Given the description of an element on the screen output the (x, y) to click on. 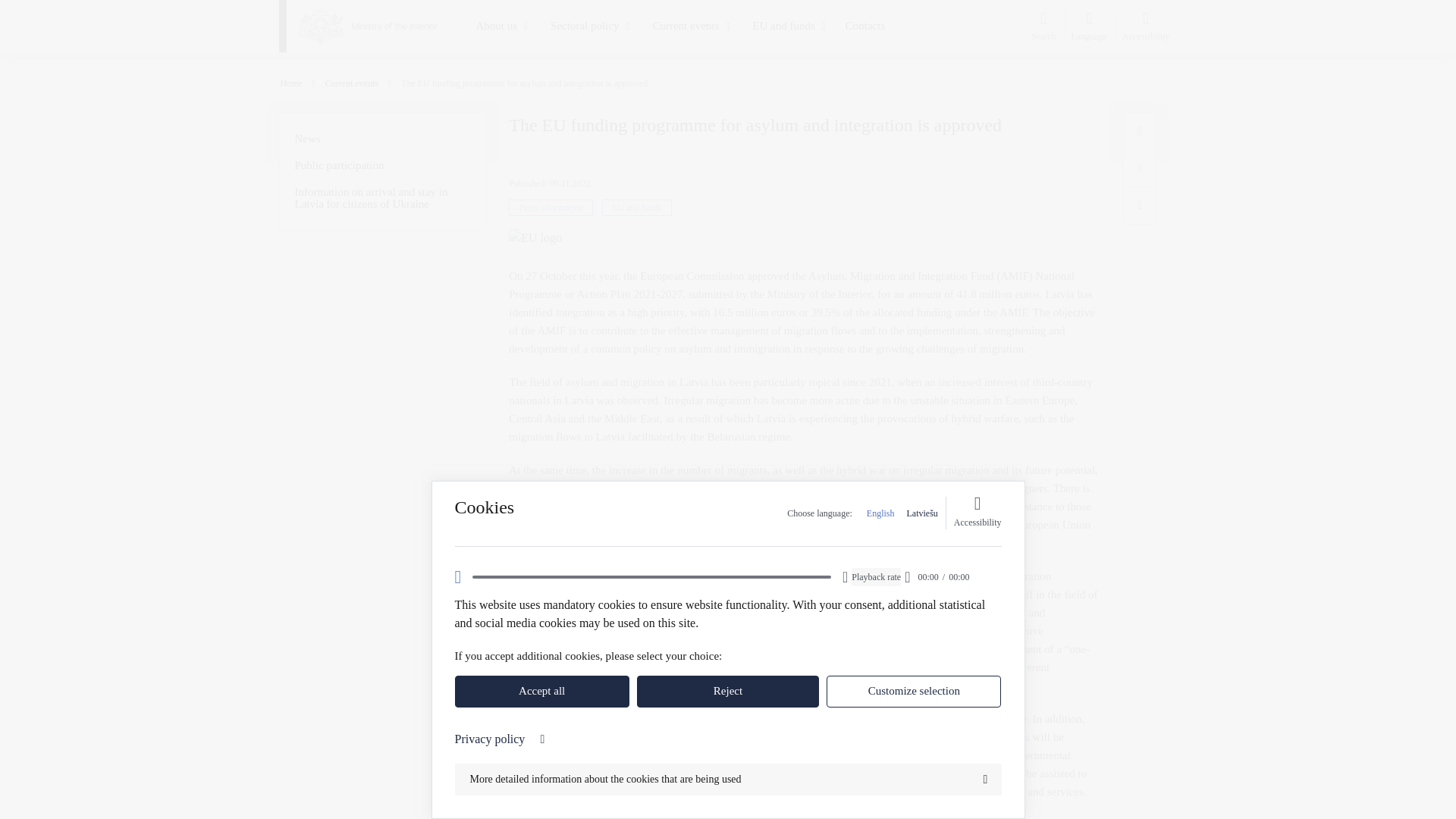
English (880, 513)
Playback rate (876, 577)
Privacy policy (727, 739)
Accessibility (977, 512)
